Given the description of an element on the screen output the (x, y) to click on. 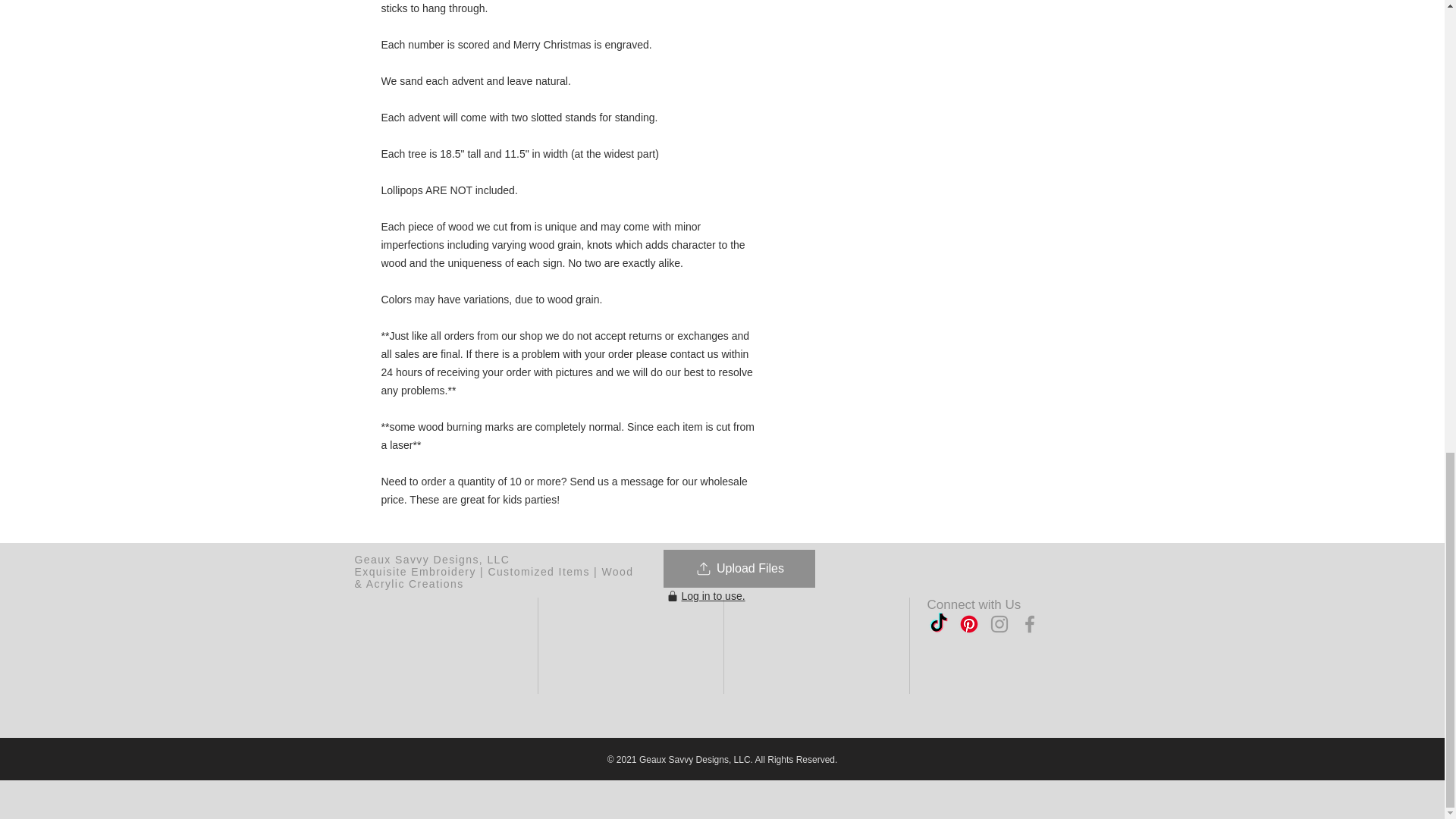
Upload Files (737, 568)
